Given the description of an element on the screen output the (x, y) to click on. 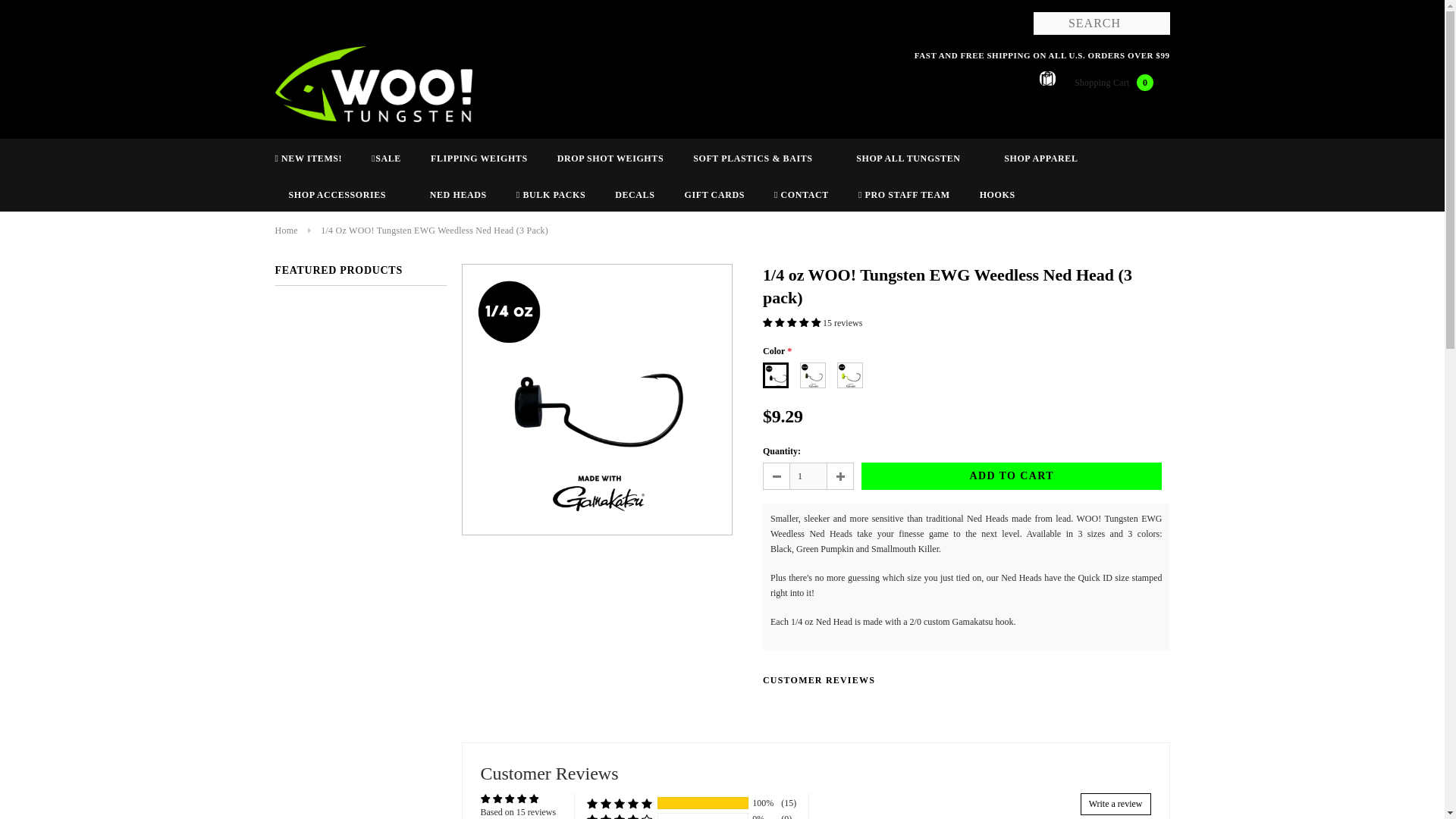
1 (808, 475)
Add to Cart (1011, 475)
Shopping Cart 0 (1104, 82)
DROP SHOT WEIGHTS (610, 158)
FLIPPING WEIGHTS (478, 158)
